Given the description of an element on the screen output the (x, y) to click on. 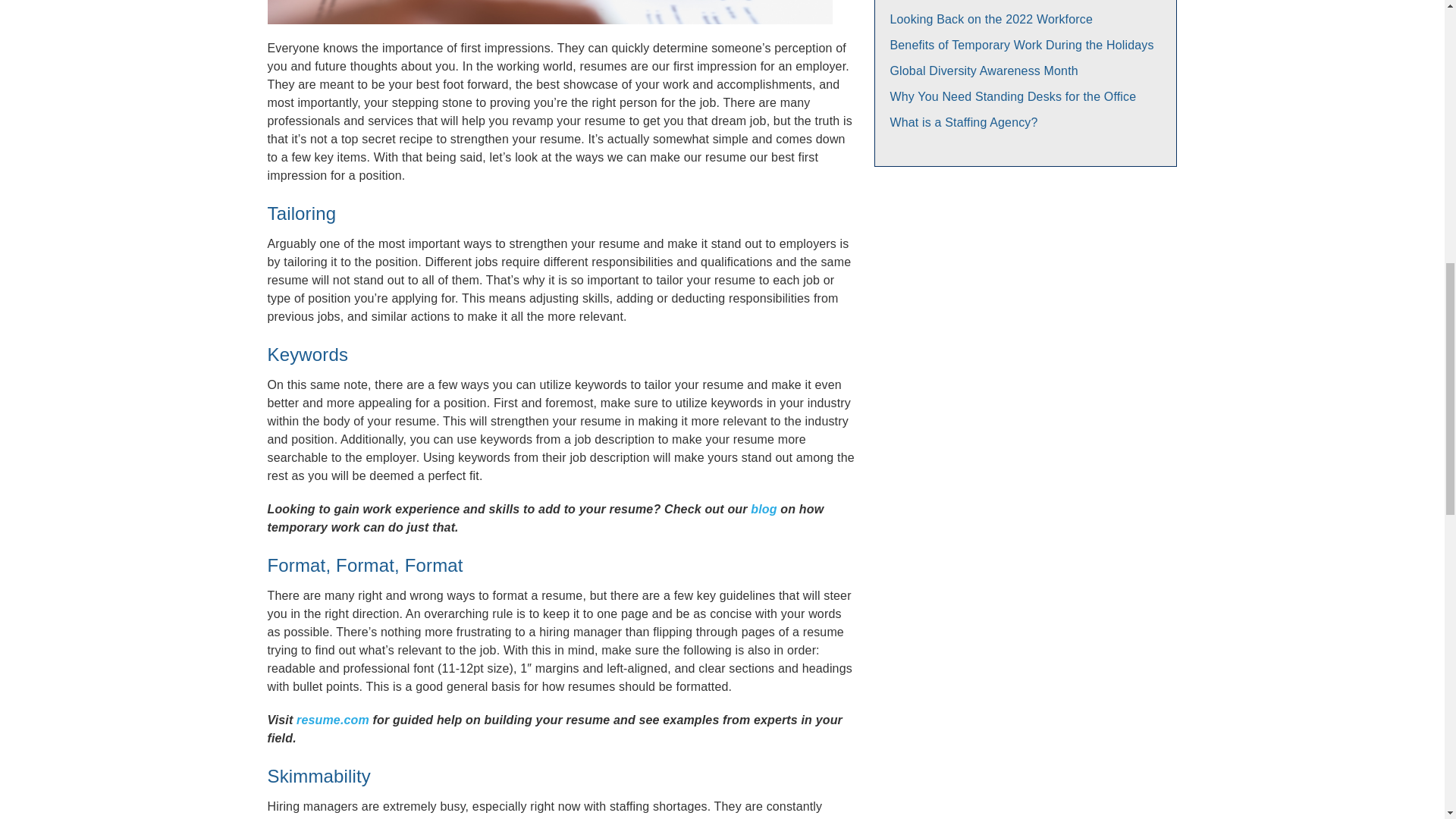
Global Diversity Awareness Month (983, 70)
Looking Back on the 2022 Workforce (991, 19)
resume.com (333, 719)
blog (763, 508)
Benefits of Temporary Work During the Holidays (1021, 44)
